Given the description of an element on the screen output the (x, y) to click on. 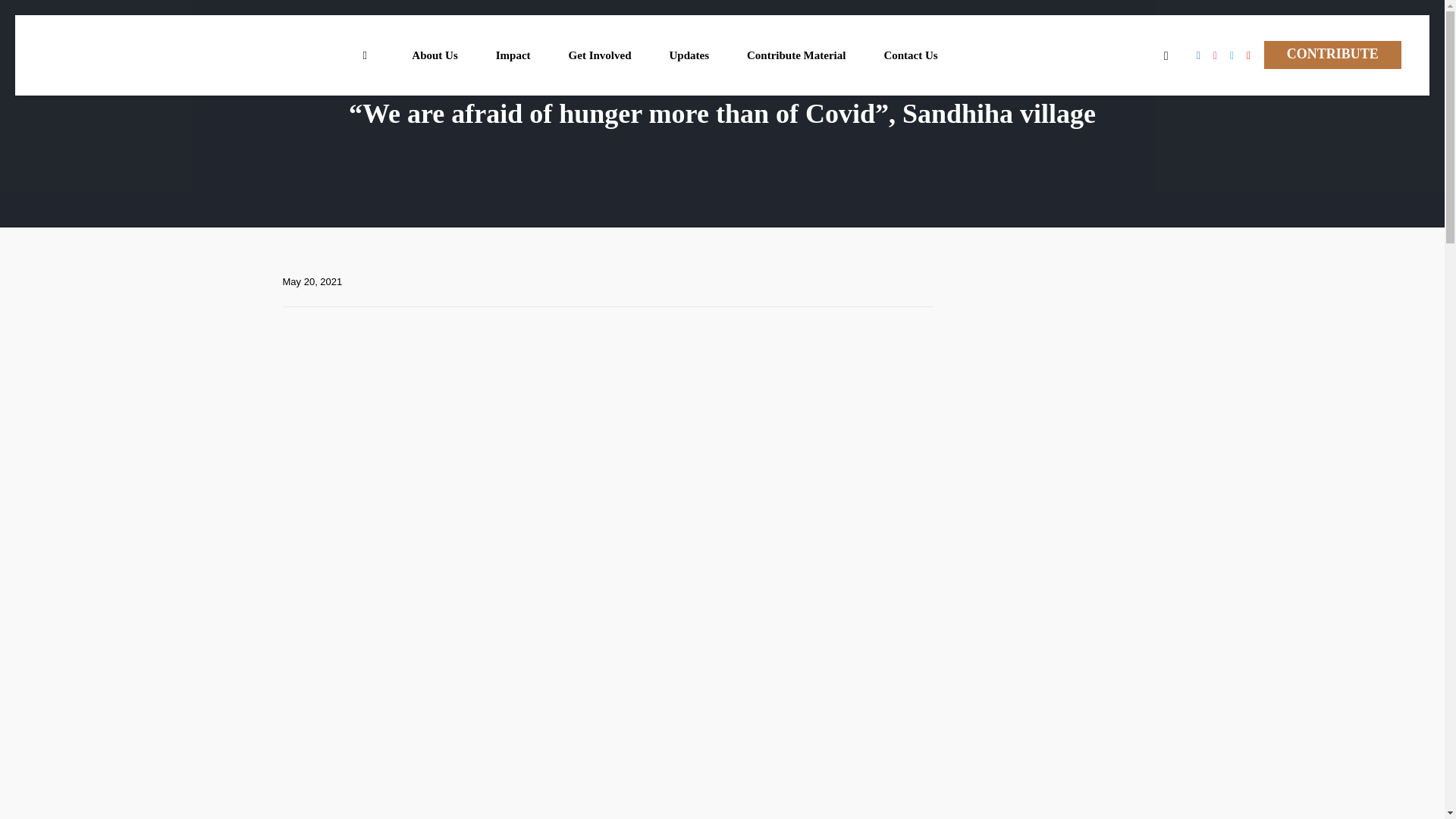
Impact (513, 55)
Twitter (1232, 55)
Youtube (1248, 55)
Instagram (1215, 55)
Facebook (1199, 55)
May 20, 2021 (312, 281)
Get Involved (600, 55)
About Us (434, 55)
CONTRIBUTE (1331, 54)
